Given the description of an element on the screen output the (x, y) to click on. 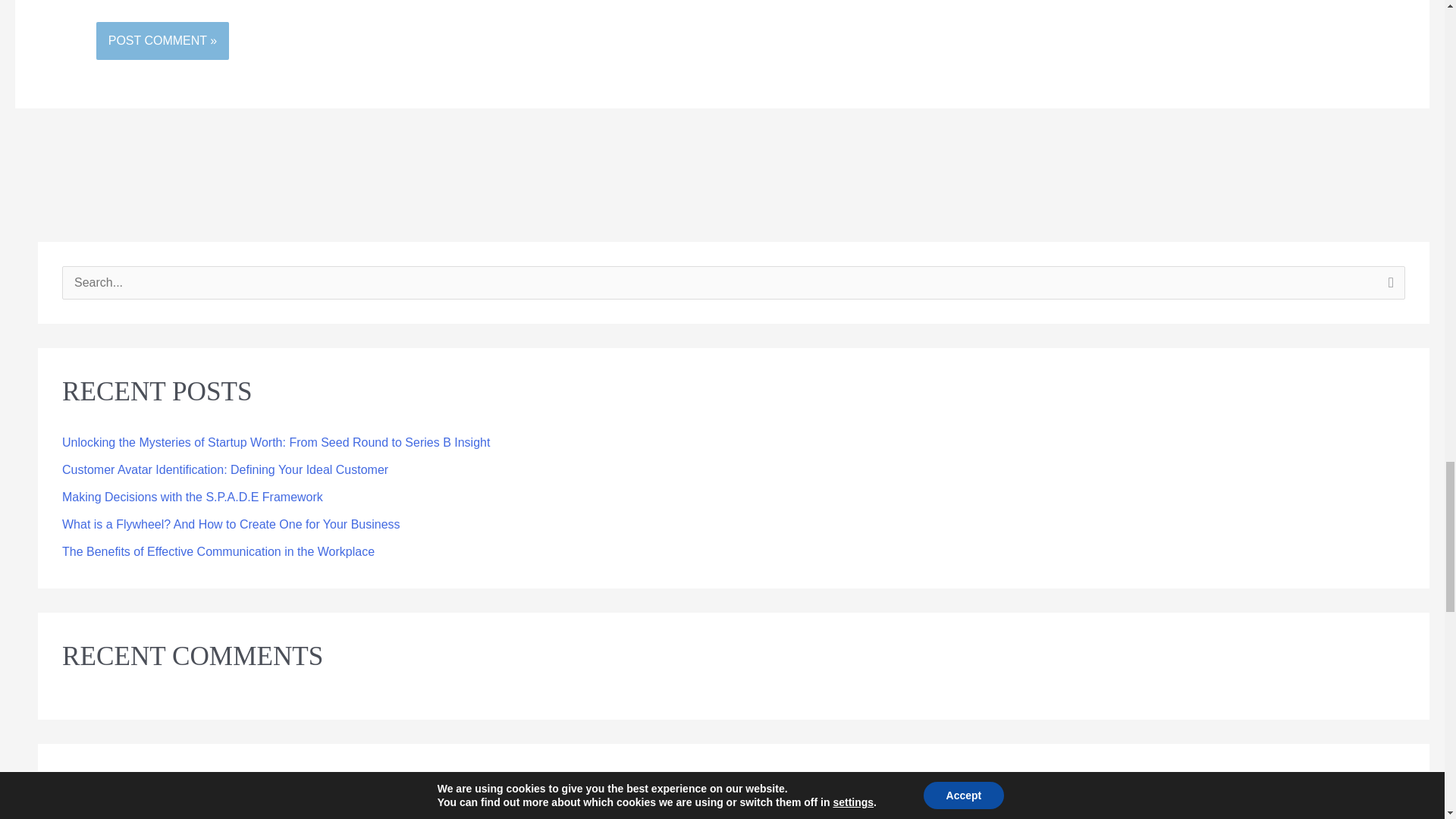
The Benefits of Effective Communication in the Workplace (218, 551)
What is a Flywheel? And How to Create One for Your Business (231, 523)
Customer Avatar Identification: Defining Your Ideal Customer (225, 469)
Making Decisions with the S.P.A.D.E Framework (192, 496)
